Given the description of an element on the screen output the (x, y) to click on. 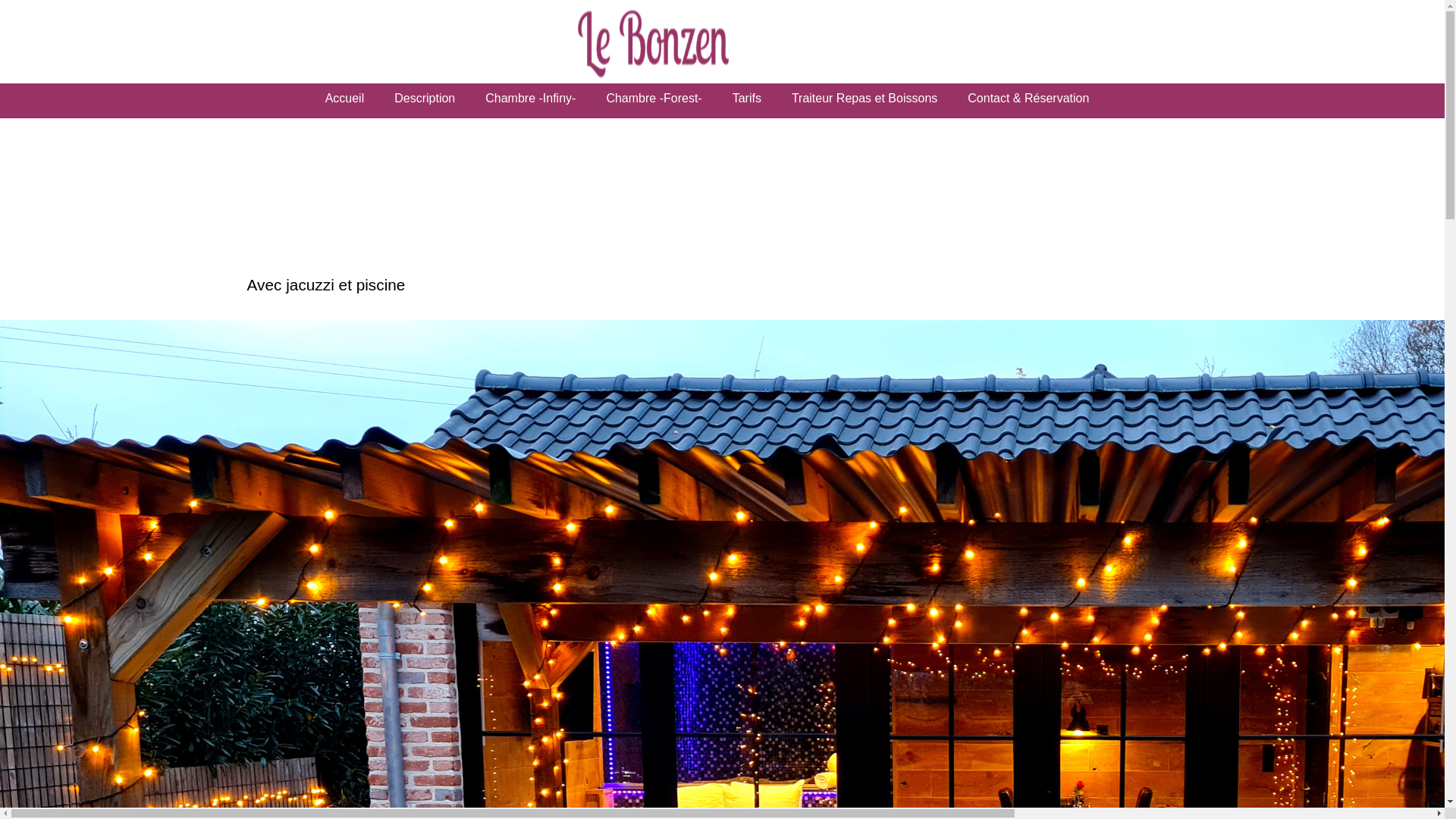
Accueil Element type: text (344, 98)
Chambre -Infiny- Element type: text (530, 98)
Traiteur Repas et Boissons Element type: text (864, 98)
Chambre -Forest- Element type: text (653, 98)
Tarifs Element type: text (746, 98)
Description Element type: text (424, 98)
